Given the description of an element on the screen output the (x, y) to click on. 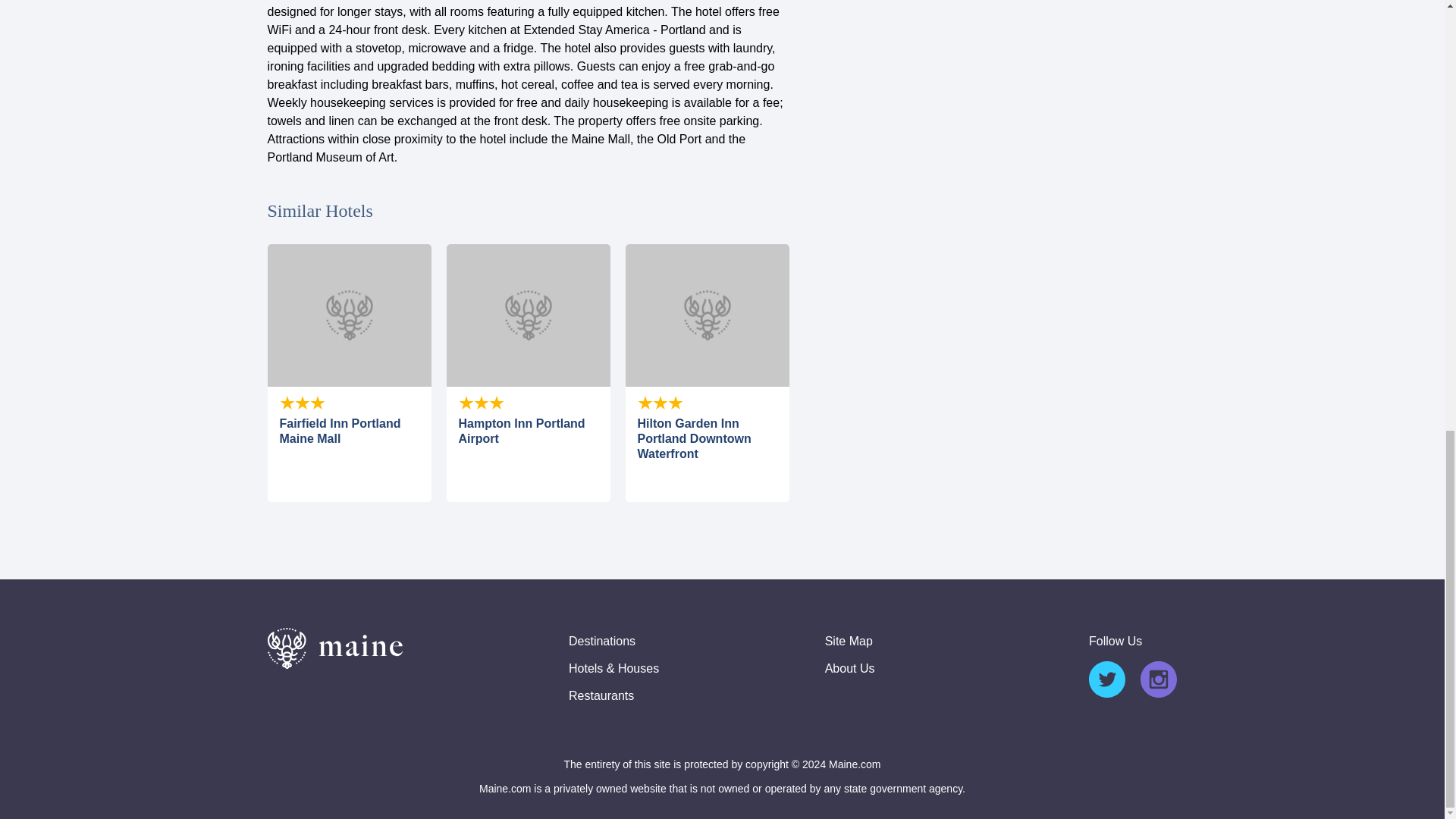
Destinations (601, 641)
Site Map (848, 641)
Restaurants (601, 695)
About Us (850, 668)
